Given the description of an element on the screen output the (x, y) to click on. 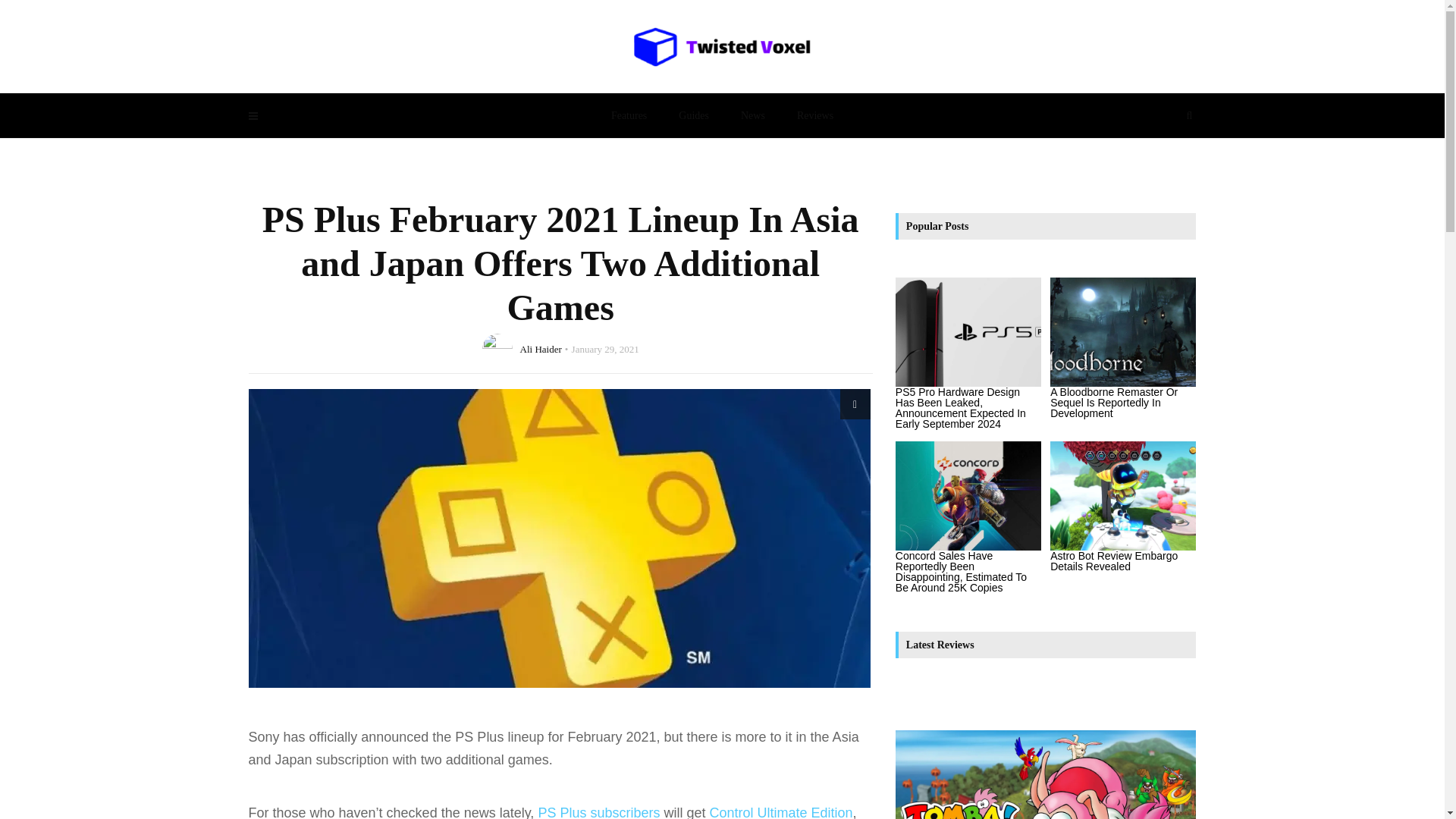
News (752, 115)
Guides (693, 115)
Reviews (814, 115)
Ali Haider (540, 348)
Features (628, 115)
PS Plus subscribers (598, 812)
Control Ultimate Edition (780, 812)
